Given the description of an element on the screen output the (x, y) to click on. 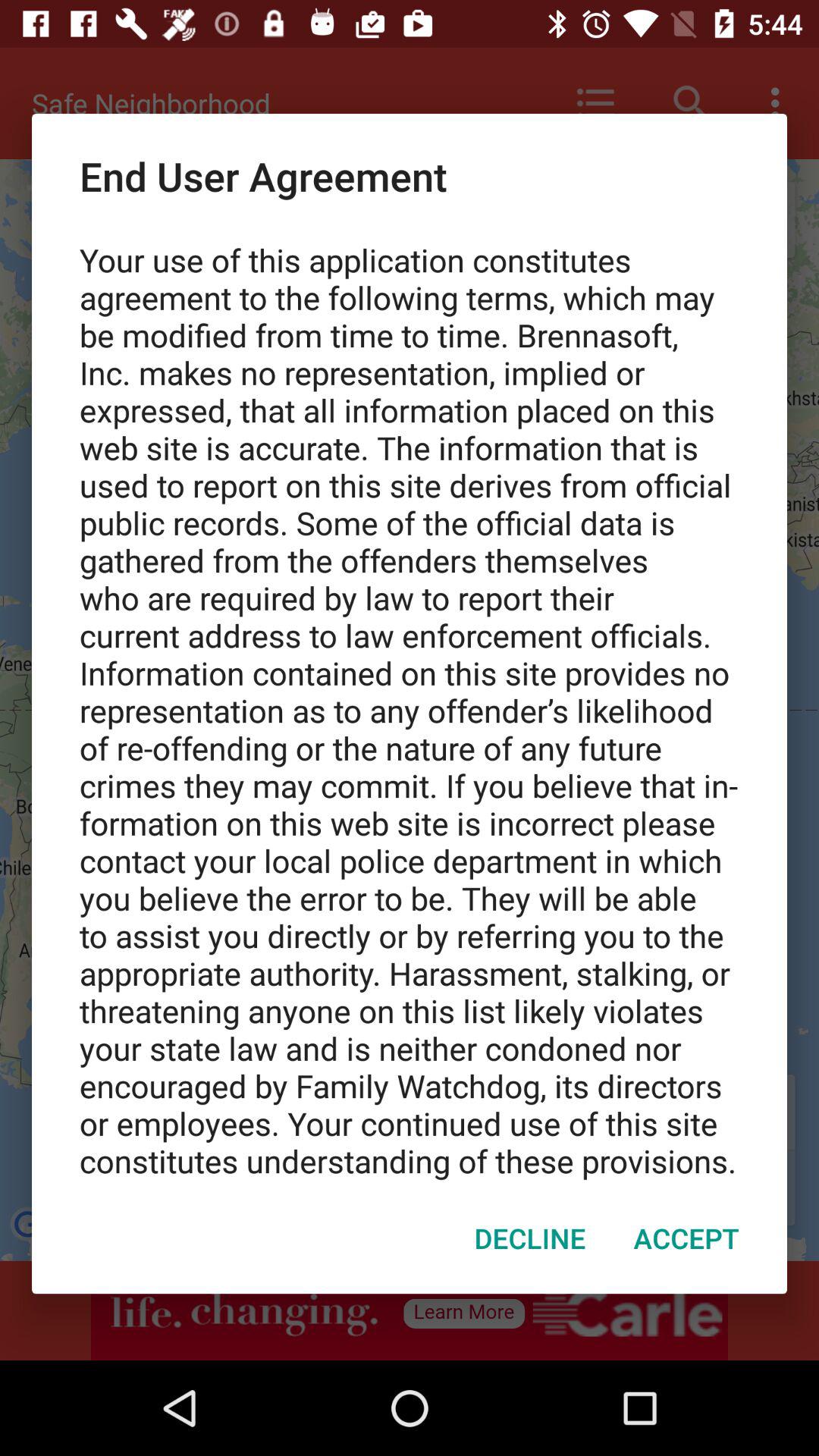
tap accept (686, 1237)
